Given the description of an element on the screen output the (x, y) to click on. 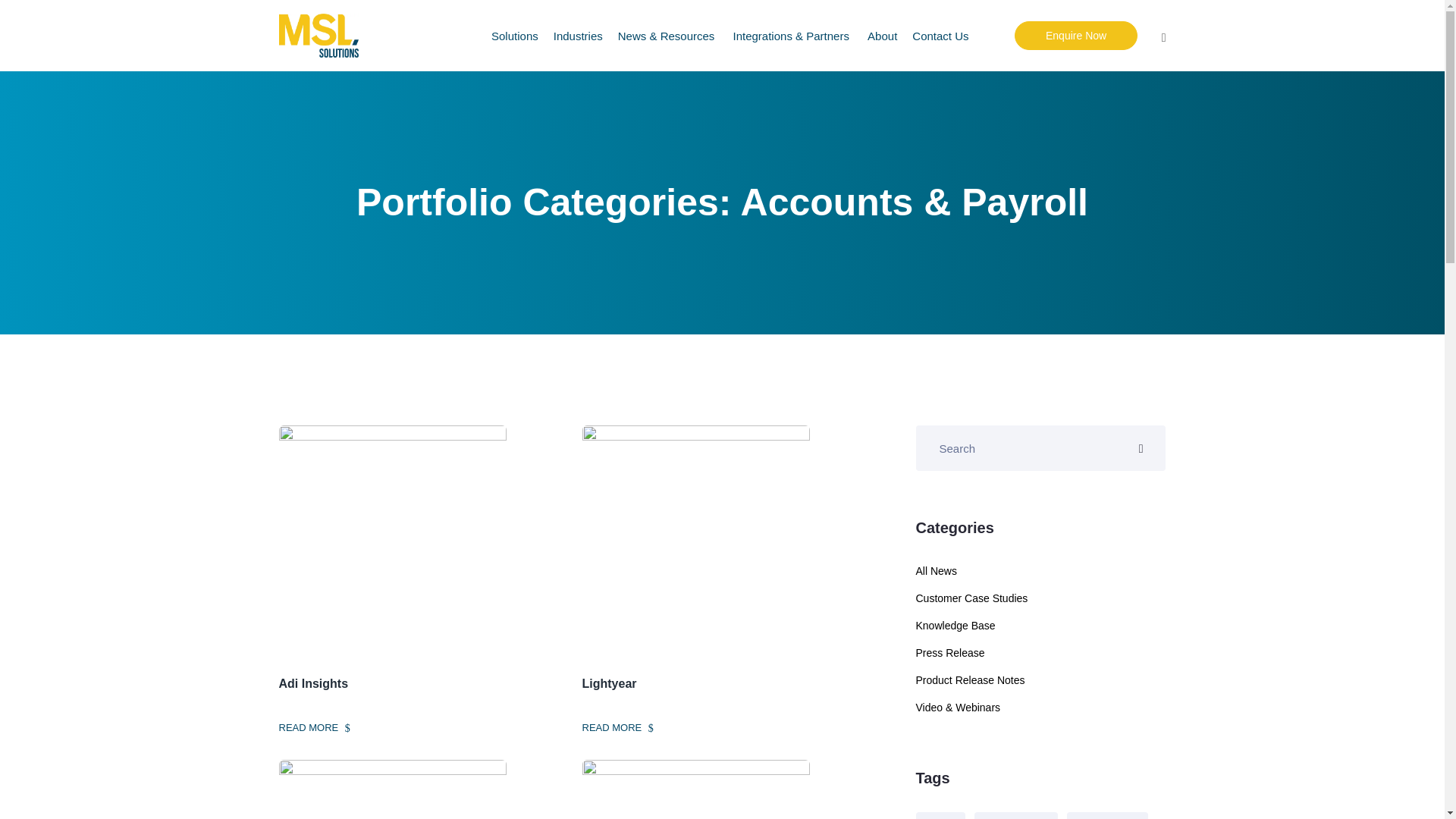
Enquire Now (1075, 35)
READ MORE (617, 727)
READ MORE (314, 727)
Industries (577, 34)
Adi Insights (419, 683)
Contact Us (940, 34)
Solutions (515, 34)
Lightyear (722, 683)
Solutions (515, 34)
About (881, 34)
